Given the description of an element on the screen output the (x, y) to click on. 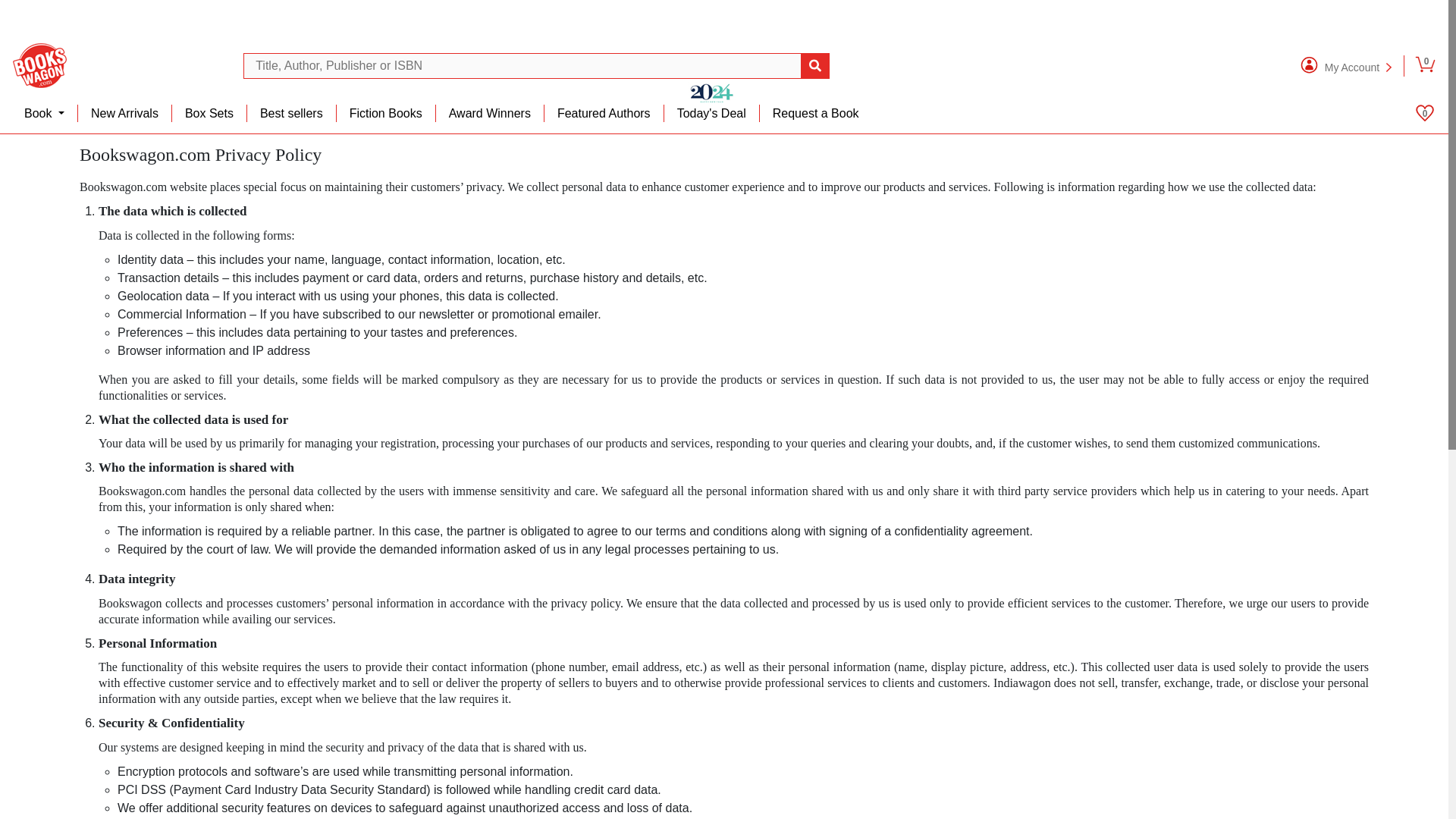
Today's Deal (711, 113)
Fiction Books (385, 113)
0 (1425, 63)
Book (44, 113)
Award Winners (489, 113)
Box Sets (209, 113)
Featured Authors (603, 113)
My Account (1336, 63)
Request a Book (816, 113)
Best sellers (291, 113)
New Arrivals (124, 113)
0 (1424, 113)
